Given the description of an element on the screen output the (x, y) to click on. 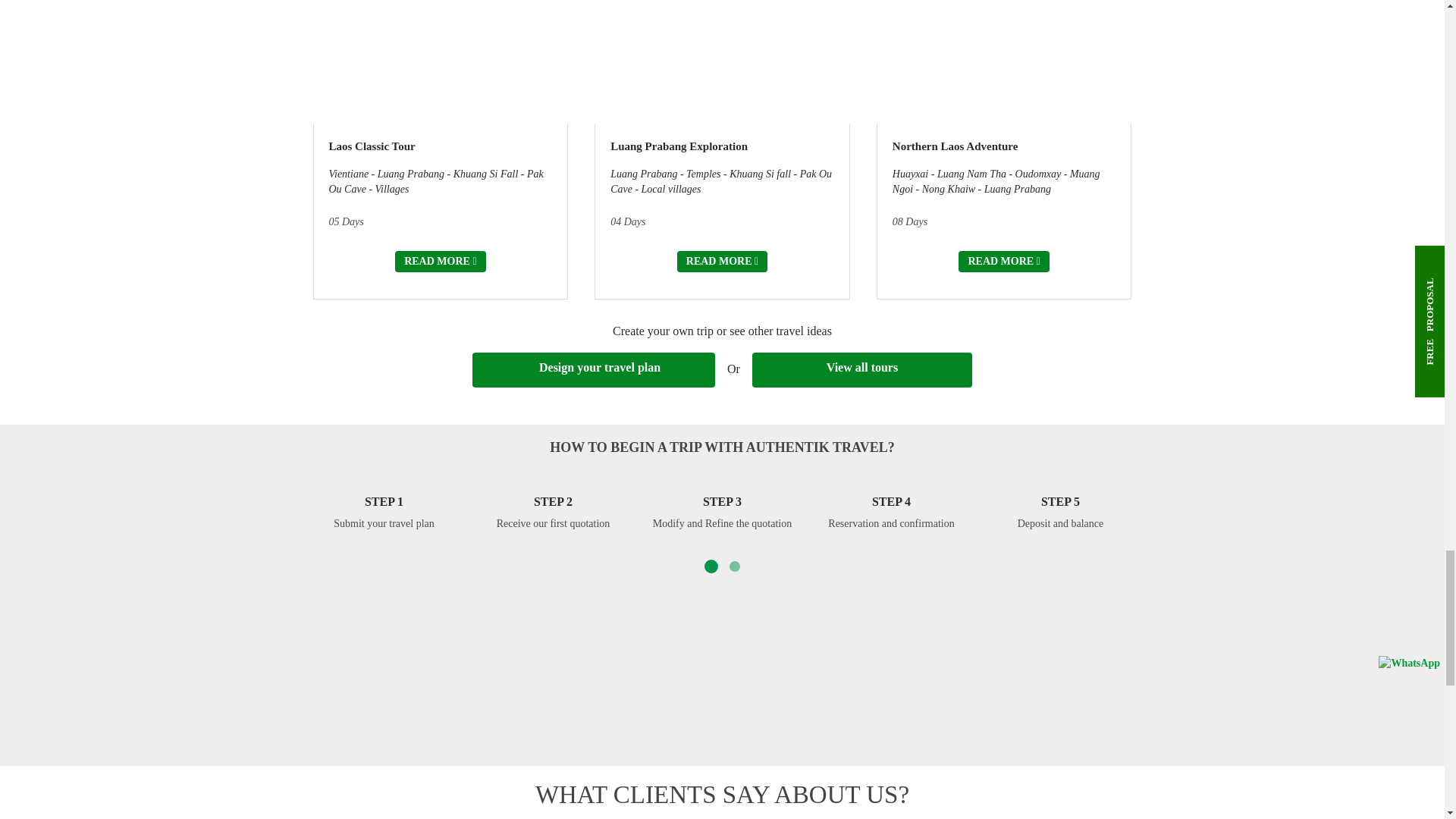
READ MORE (439, 260)
READ MORE (1003, 260)
Luang Prabang Exploration (679, 146)
Laos Classic Tour (371, 146)
View all tours (862, 369)
READ MORE (722, 260)
Northern Laos Adventure (954, 146)
STEP 1 (384, 501)
Design your travel plan (592, 369)
